Given the description of an element on the screen output the (x, y) to click on. 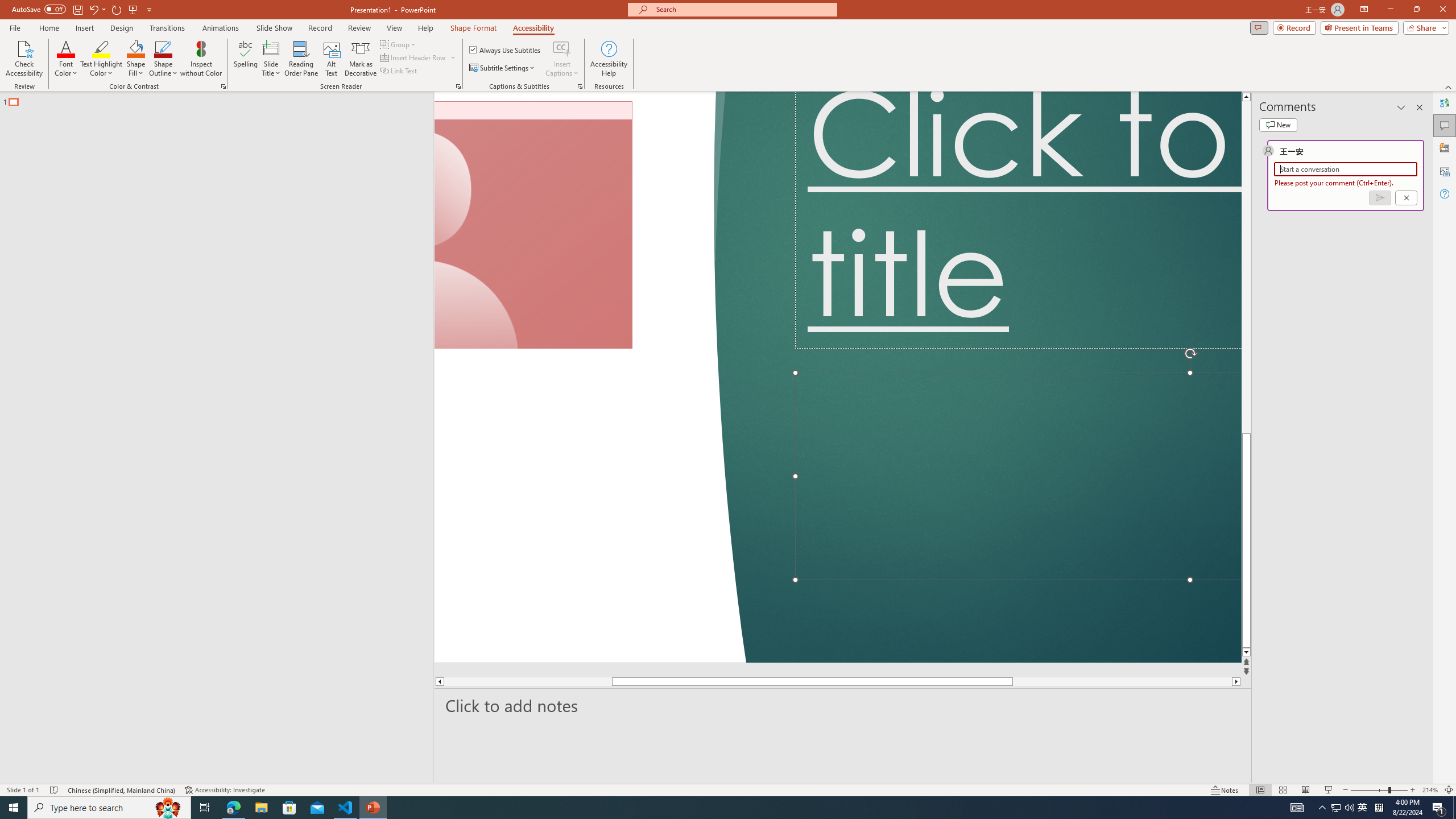
Task Pane Options (1400, 107)
Outline (220, 99)
Title TextBox (1017, 219)
Zoom 214% (1430, 790)
Rectangle (210, 437)
Subtitle TextBox (1017, 476)
Line up (1245, 96)
Cancel (1405, 197)
Page up (1245, 266)
